Given the description of an element on the screen output the (x, y) to click on. 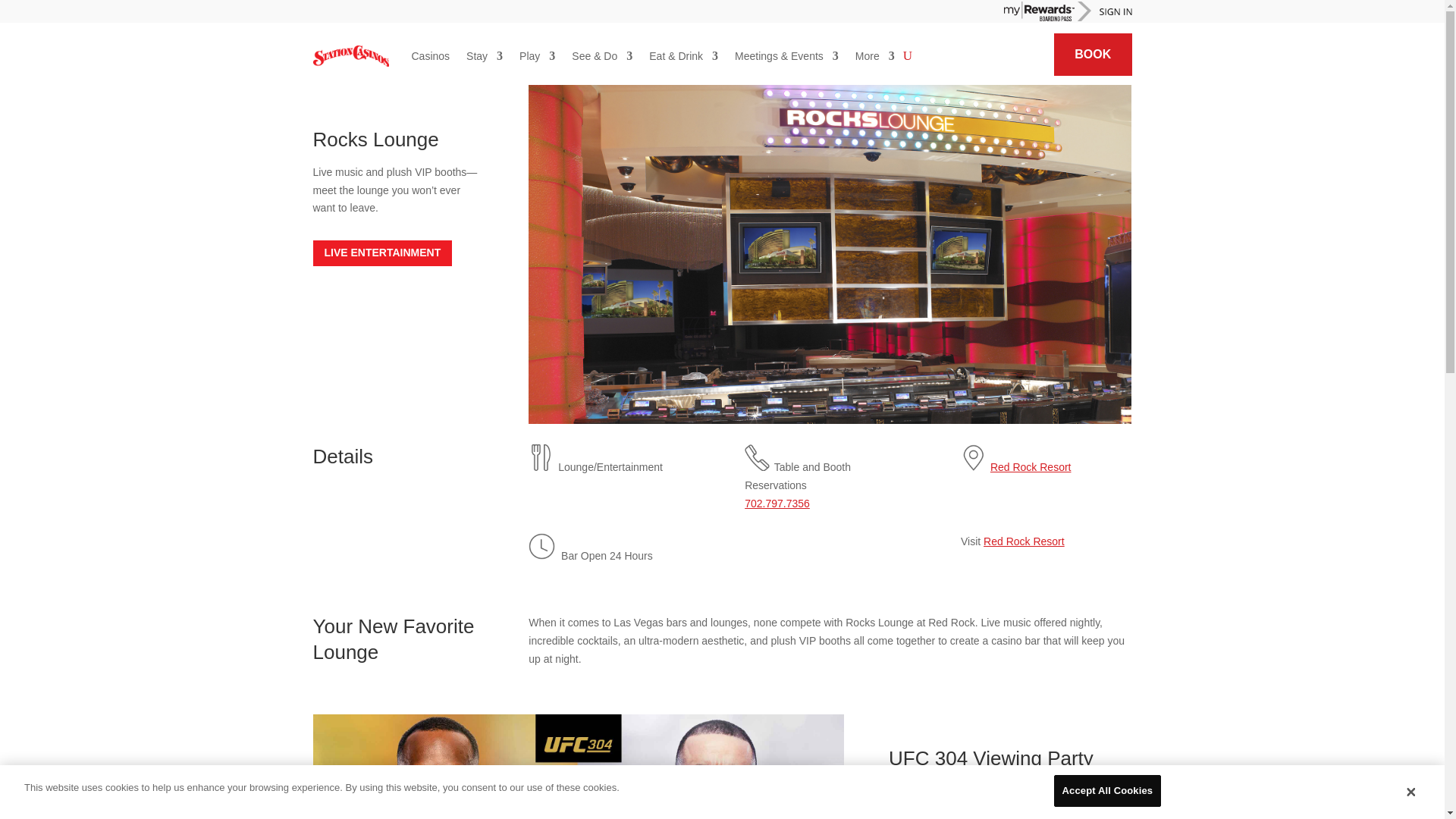
UFC 304 (578, 766)
